Given the description of an element on the screen output the (x, y) to click on. 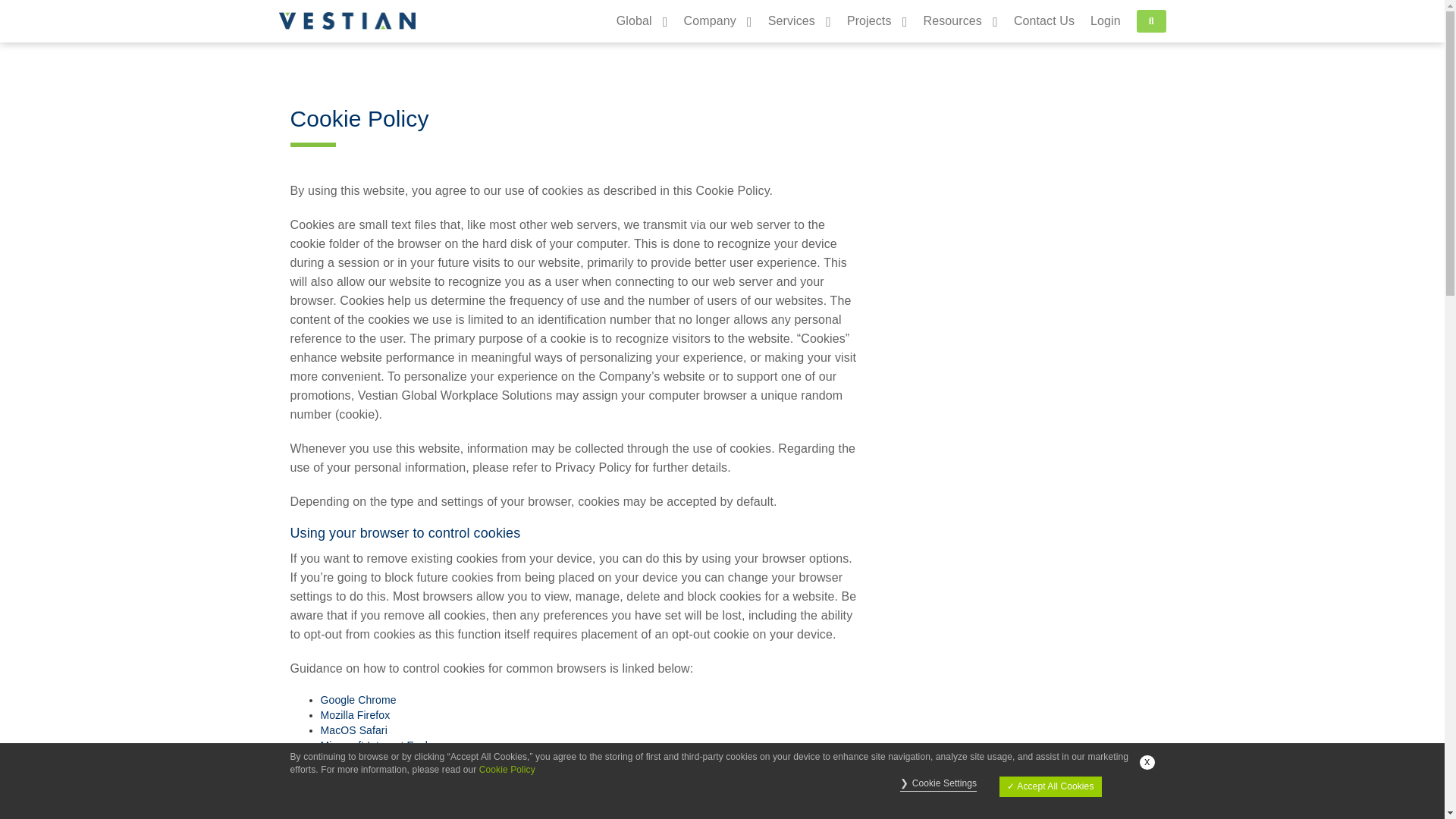
MacOS Safari (353, 729)
Microsoft Internet Explorer (383, 745)
Resources (952, 21)
Mozilla Firefox (355, 715)
Login (1105, 21)
Global (633, 21)
Services (791, 21)
Company (710, 21)
Google Chrome (358, 699)
Contact Us (1035, 21)
Projects (869, 21)
